Given the description of an element on the screen output the (x, y) to click on. 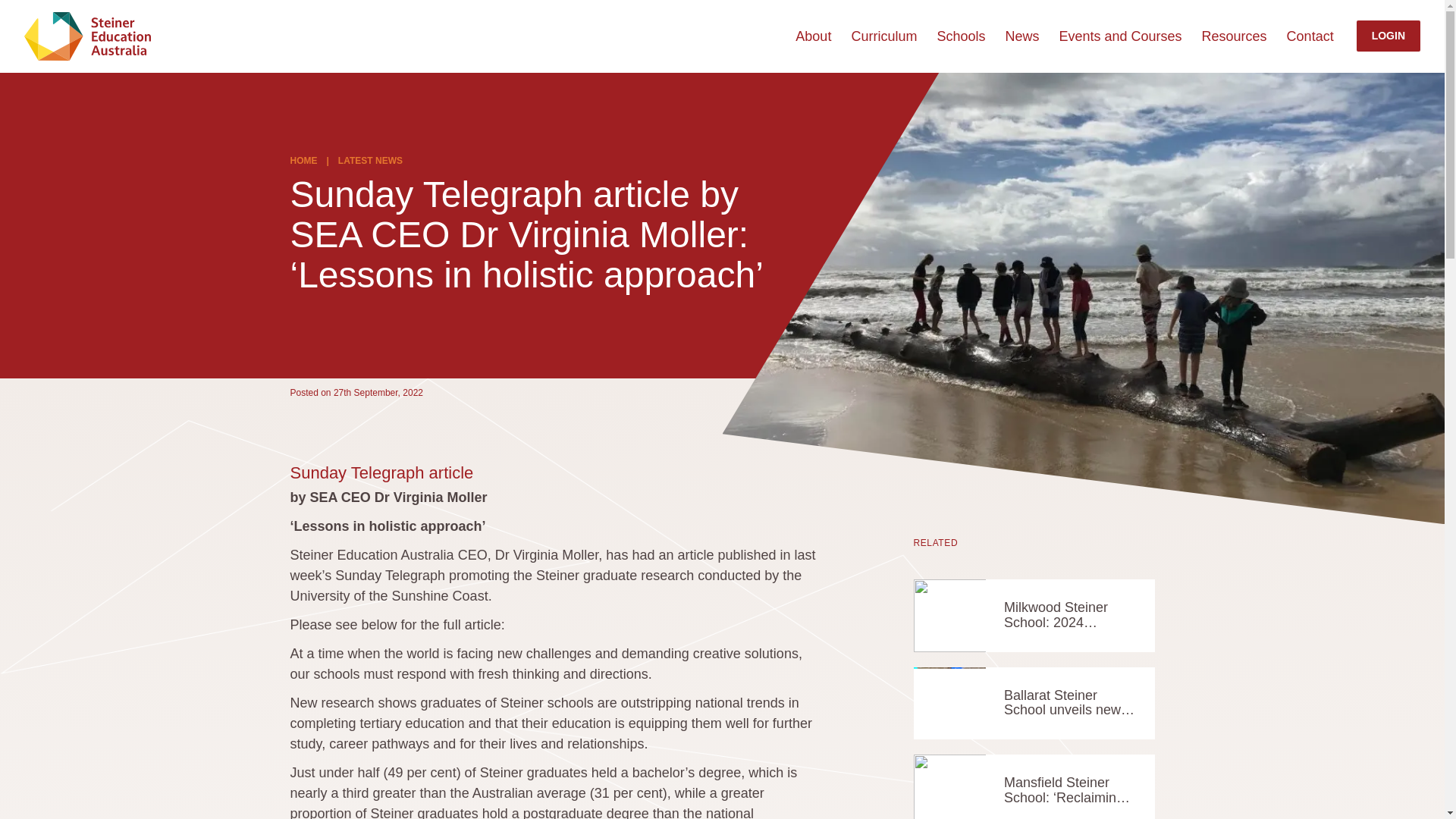
Resources (1234, 36)
About (812, 36)
Curriculum (883, 36)
News (1021, 36)
About (812, 36)
Curriculum (883, 36)
Schools (960, 36)
Events and Courses (1119, 36)
Contact (1310, 36)
